Given the description of an element on the screen output the (x, y) to click on. 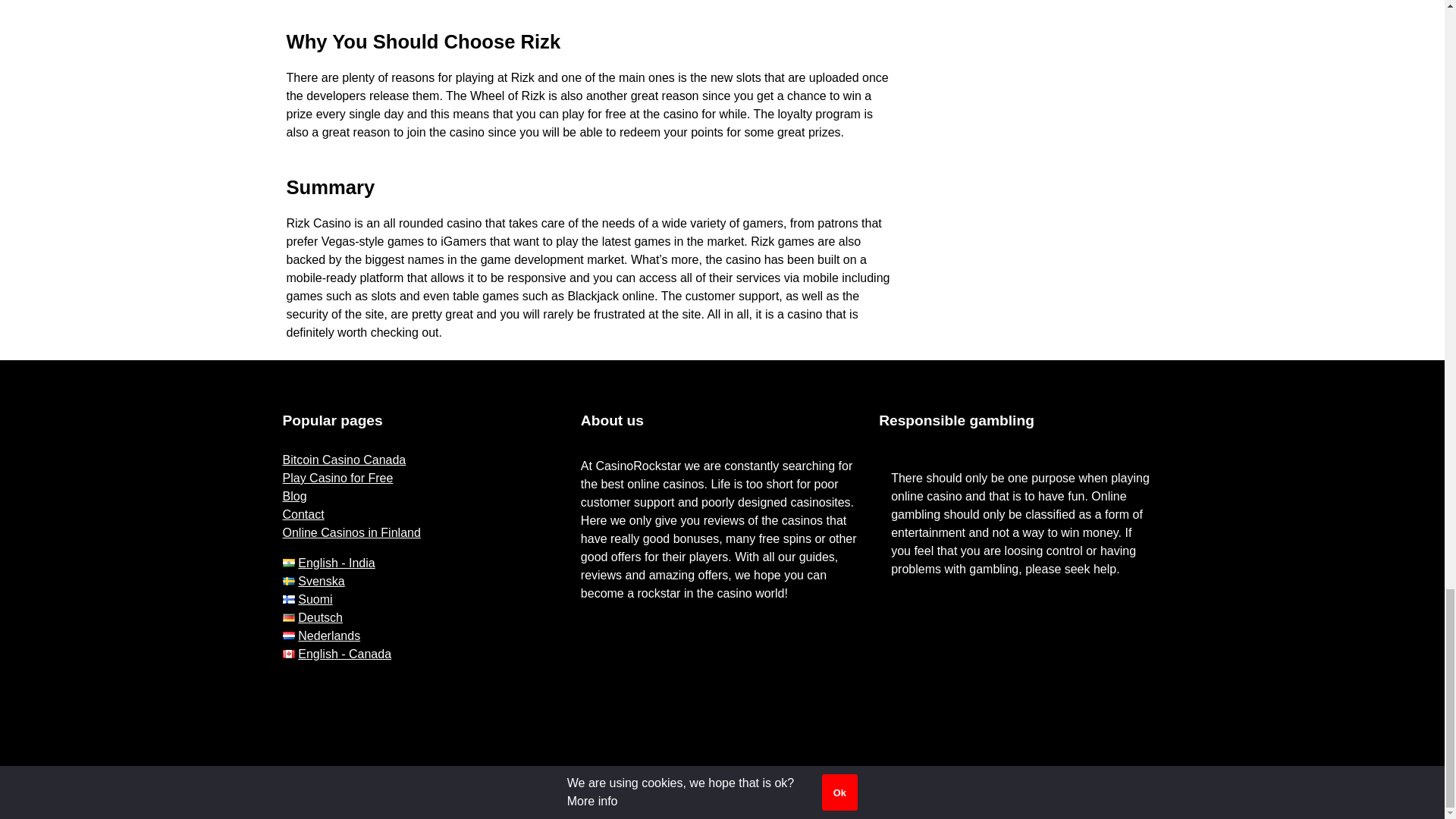
Contact (302, 513)
Deutsch (312, 617)
Nederlands (320, 635)
Play Casino for Free (337, 477)
Suomi (306, 599)
Blog (293, 495)
English - Canada (336, 653)
Bitcoin Casino Canada (344, 459)
Svenska (312, 581)
Online Casinos in Finland (351, 532)
English - India (328, 562)
